Given the description of an element on the screen output the (x, y) to click on. 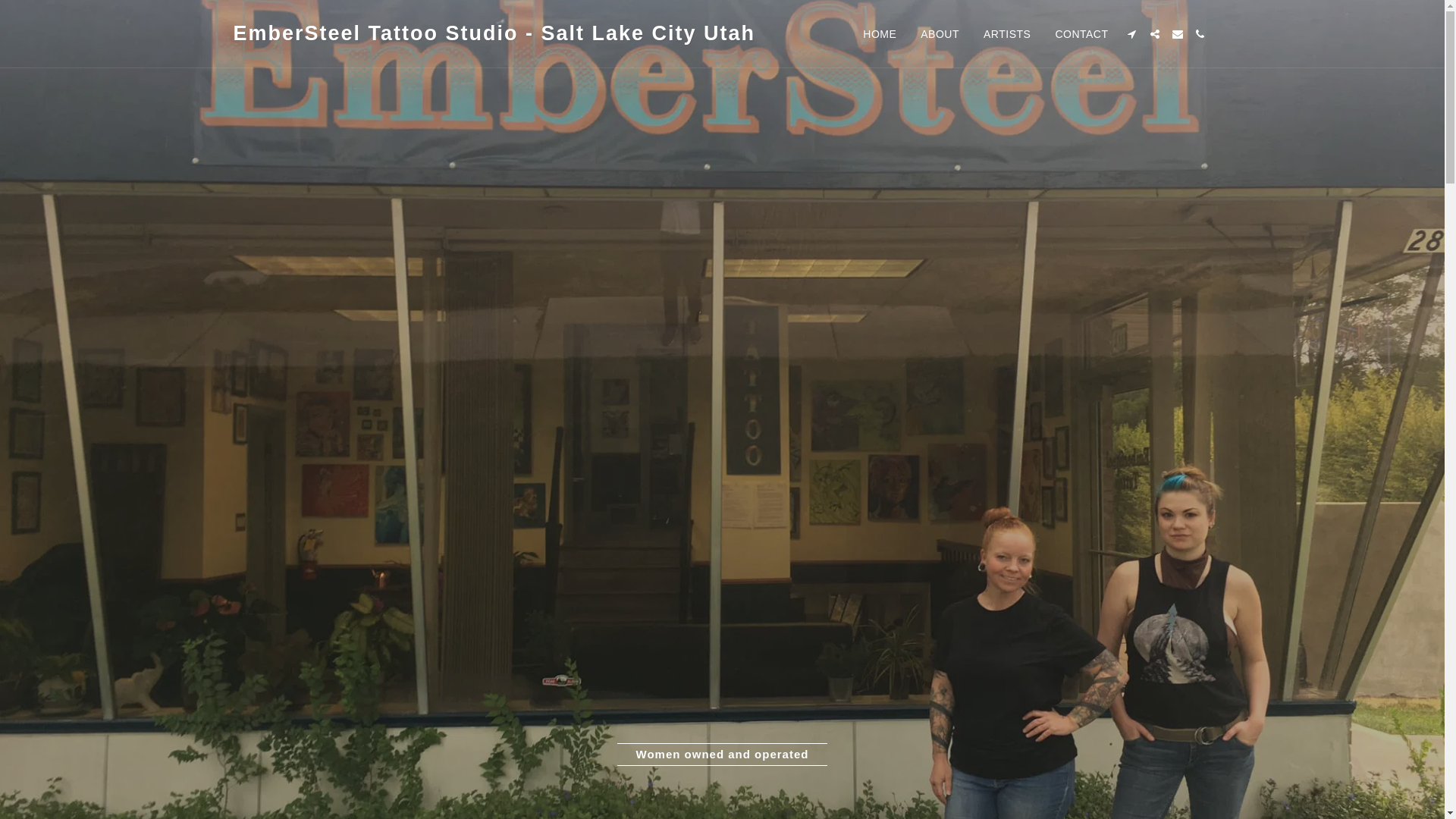
ARTISTS (1007, 32)
ABOUT (939, 32)
ABOUT (939, 32)
EmberSteel Tattoo Studio - Salt Lake City Utah (493, 33)
HOME (879, 32)
EmberSteel Tattoo Studio - Salt Lake City Utah (493, 33)
